Given the description of an element on the screen output the (x, y) to click on. 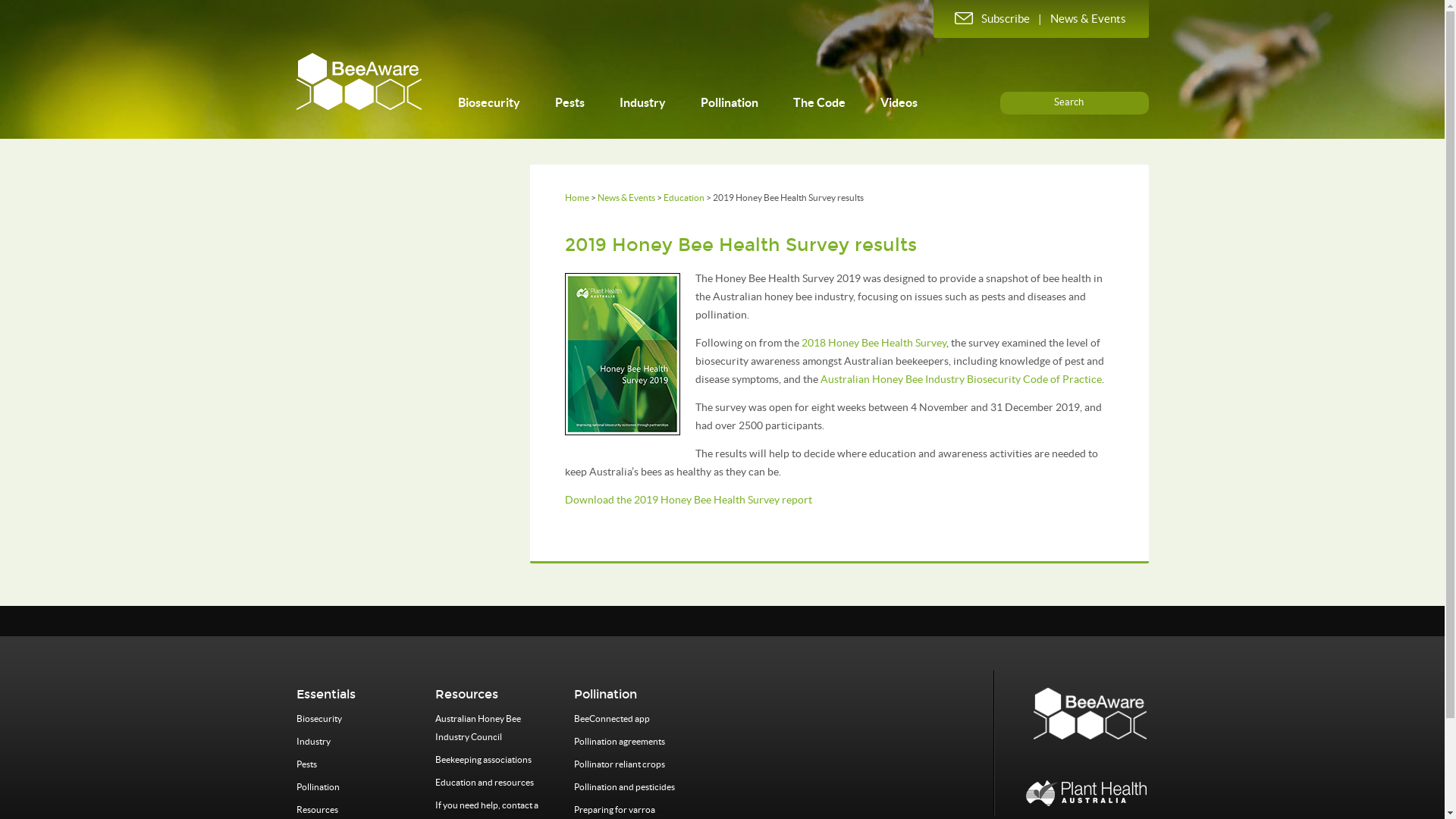
Subscribe Element type: text (991, 18)
Home Element type: text (576, 197)
Pollination and pesticides Element type: text (624, 786)
Biosecurity Element type: text (489, 102)
News & Events Element type: text (626, 197)
Videos Element type: text (897, 102)
Pollination Element type: text (316, 786)
Australian Honey Bee Industry Biosecurity Code of Practice Element type: text (960, 379)
Download the 2019 Honey Bee Health Survey report Element type: text (687, 499)
Education and resources Element type: text (484, 782)
BeeConnected app Element type: text (611, 718)
Pollinator reliant crops Element type: text (619, 763)
Preparing for varroa Element type: text (614, 809)
Pests Element type: text (569, 102)
Pests Element type: text (305, 763)
Beekeeping associations Element type: text (483, 759)
Biosecurity Element type: text (318, 718)
The Code Element type: text (819, 102)
Search Element type: text (1068, 101)
News & Events Element type: text (1087, 18)
Australian Honey Bee Industry Council Element type: text (477, 727)
Industry Element type: text (641, 102)
Pollination agreements Element type: text (619, 741)
Pollination Element type: text (729, 102)
Resources Element type: text (316, 809)
Education Element type: text (682, 197)
Industry Element type: text (312, 741)
2018 Honey Bee Health Survey Element type: text (872, 342)
